Given the description of an element on the screen output the (x, y) to click on. 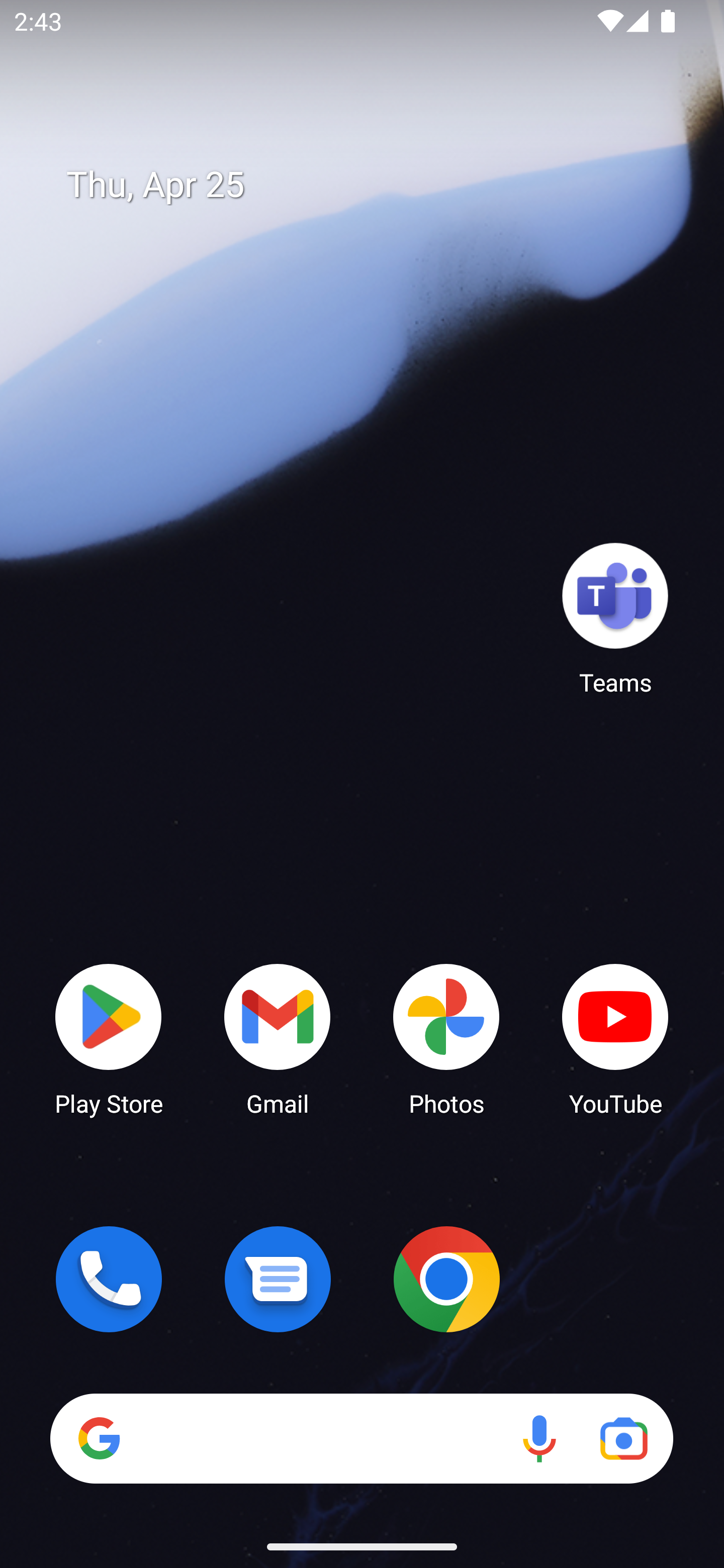
Thu, Apr 25 (375, 184)
Teams (615, 617)
Play Store (108, 1038)
Gmail (277, 1038)
Photos (445, 1038)
YouTube (615, 1038)
Phone (108, 1279)
Messages (277, 1279)
Chrome (446, 1279)
Search Voice search Google Lens (361, 1438)
Voice search (539, 1438)
Google Lens (623, 1438)
